Given the description of an element on the screen output the (x, y) to click on. 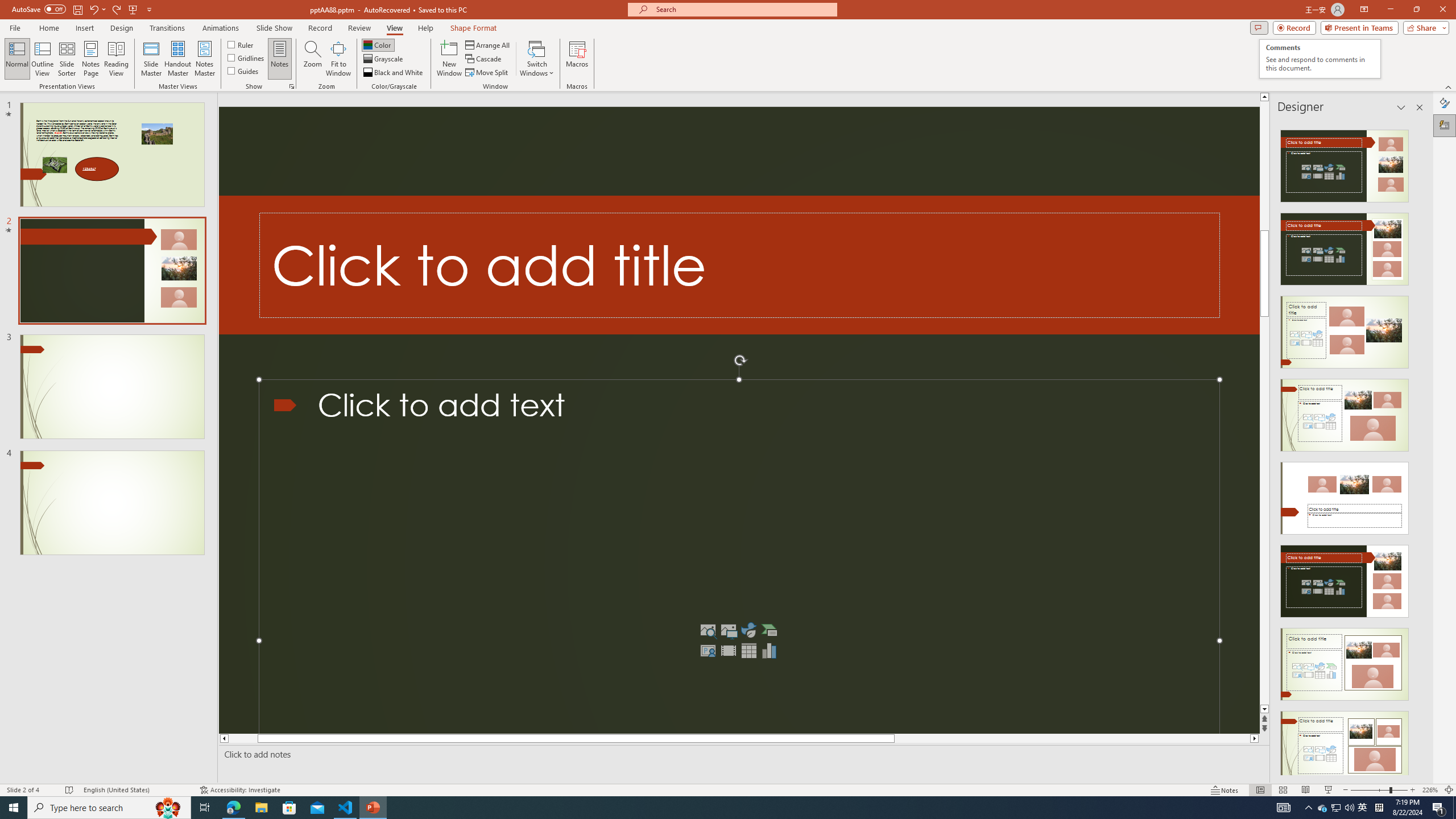
Notes Master (204, 58)
Fit to Window (338, 58)
Outline View (42, 58)
Gridlines (246, 56)
